Given the description of an element on the screen output the (x, y) to click on. 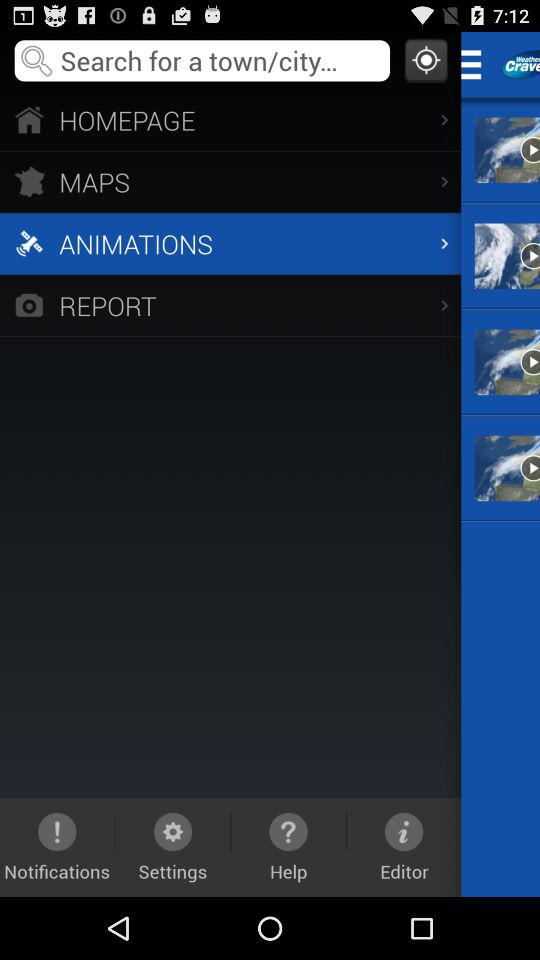
jump until the homepage app (230, 119)
